Given the description of an element on the screen output the (x, y) to click on. 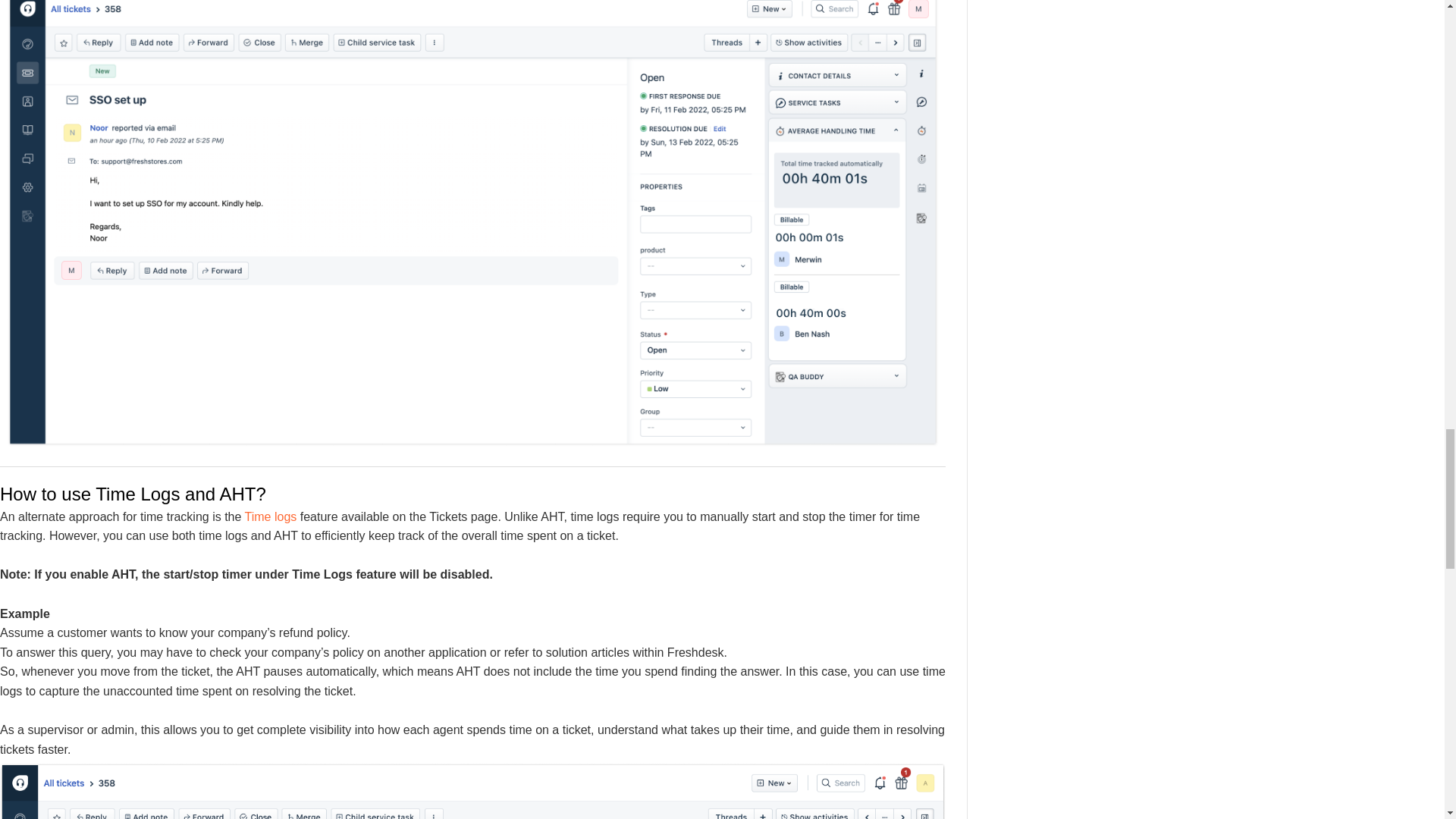
Time logs (270, 516)
